Given the description of an element on the screen output the (x, y) to click on. 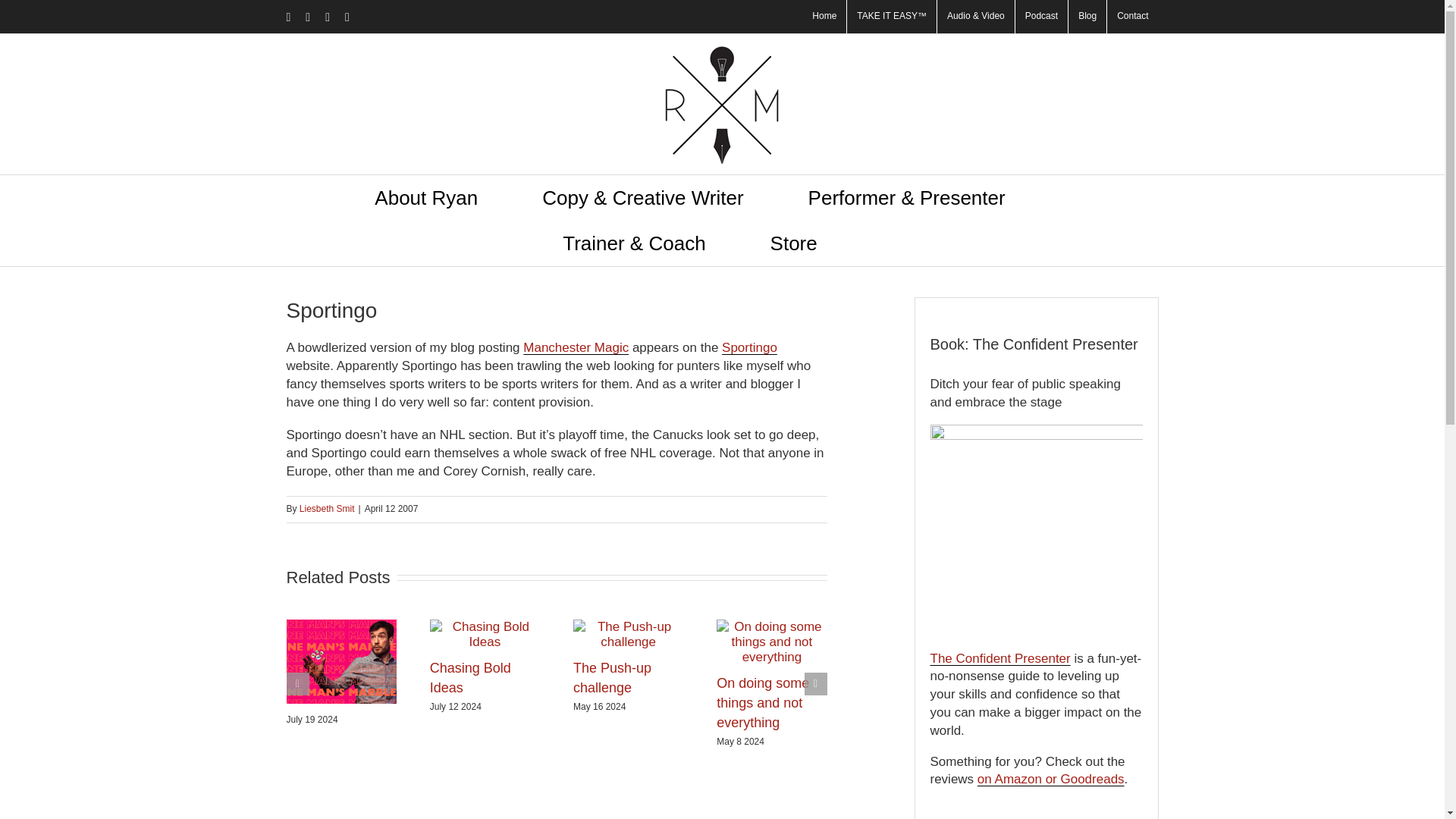
Home (823, 16)
The Push-up challenge (611, 677)
Podcast (1040, 16)
Manchester Magic (575, 347)
on Amazon or Goodreads (1050, 779)
On doing some things and not everything (762, 702)
Blog (1087, 16)
On doing some things and not everything (762, 702)
Posts by Liesbeth Smit (327, 508)
Contact (1131, 16)
